Given the description of an element on the screen output the (x, y) to click on. 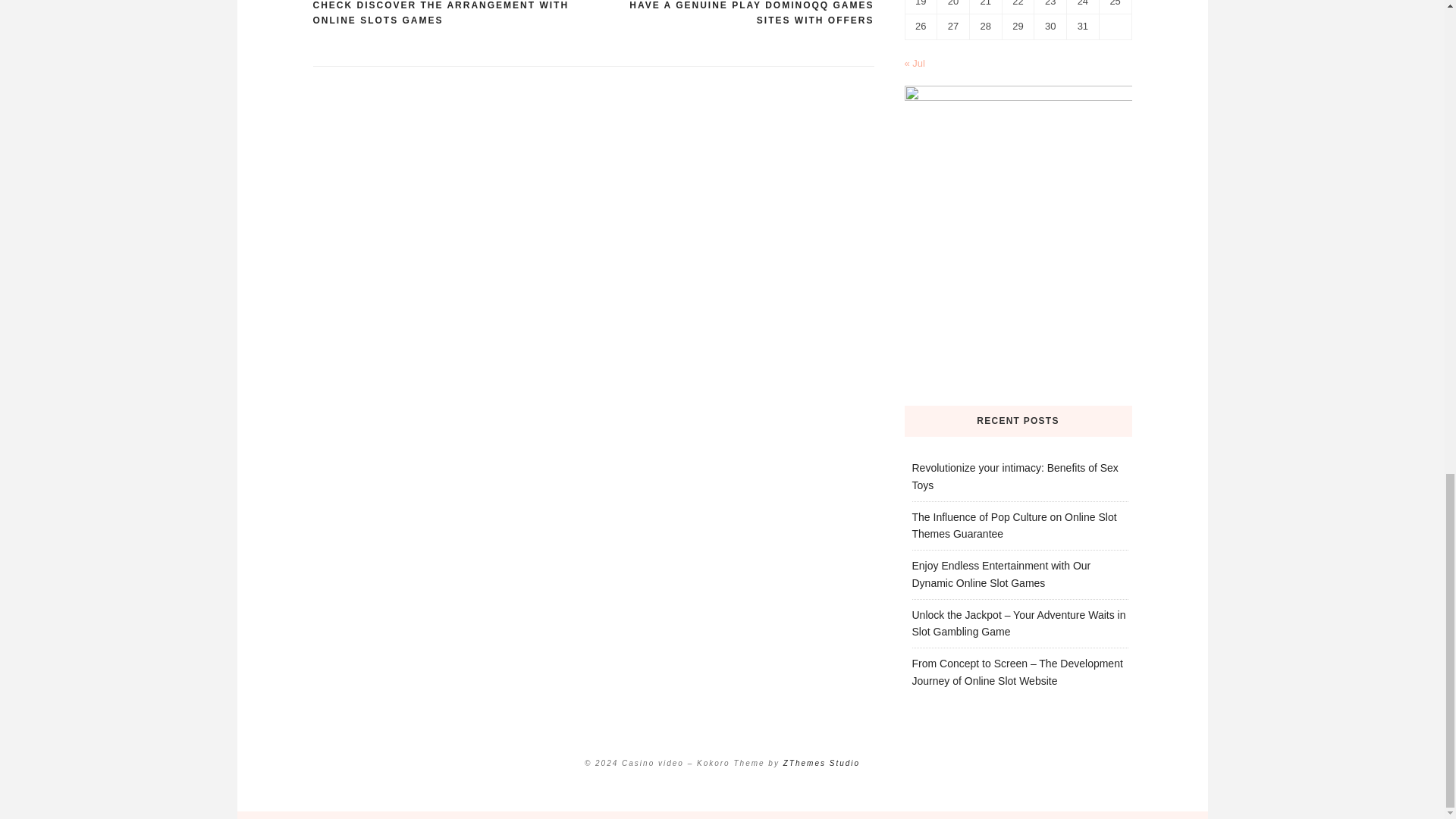
Revolutionize your intimacy: Benefits of Sex Toys (1014, 476)
The Influence of Pop Culture on Online Slot Themes Guarantee (1013, 525)
ZThemes Studio (821, 763)
HAVE A GENUINE PLAY DOMINOQQ GAMES SITES WITH OFFERS (732, 13)
CHECK DISCOVER THE ARRANGEMENT WITH ONLINE SLOTS GAMES (452, 13)
